Given the description of an element on the screen output the (x, y) to click on. 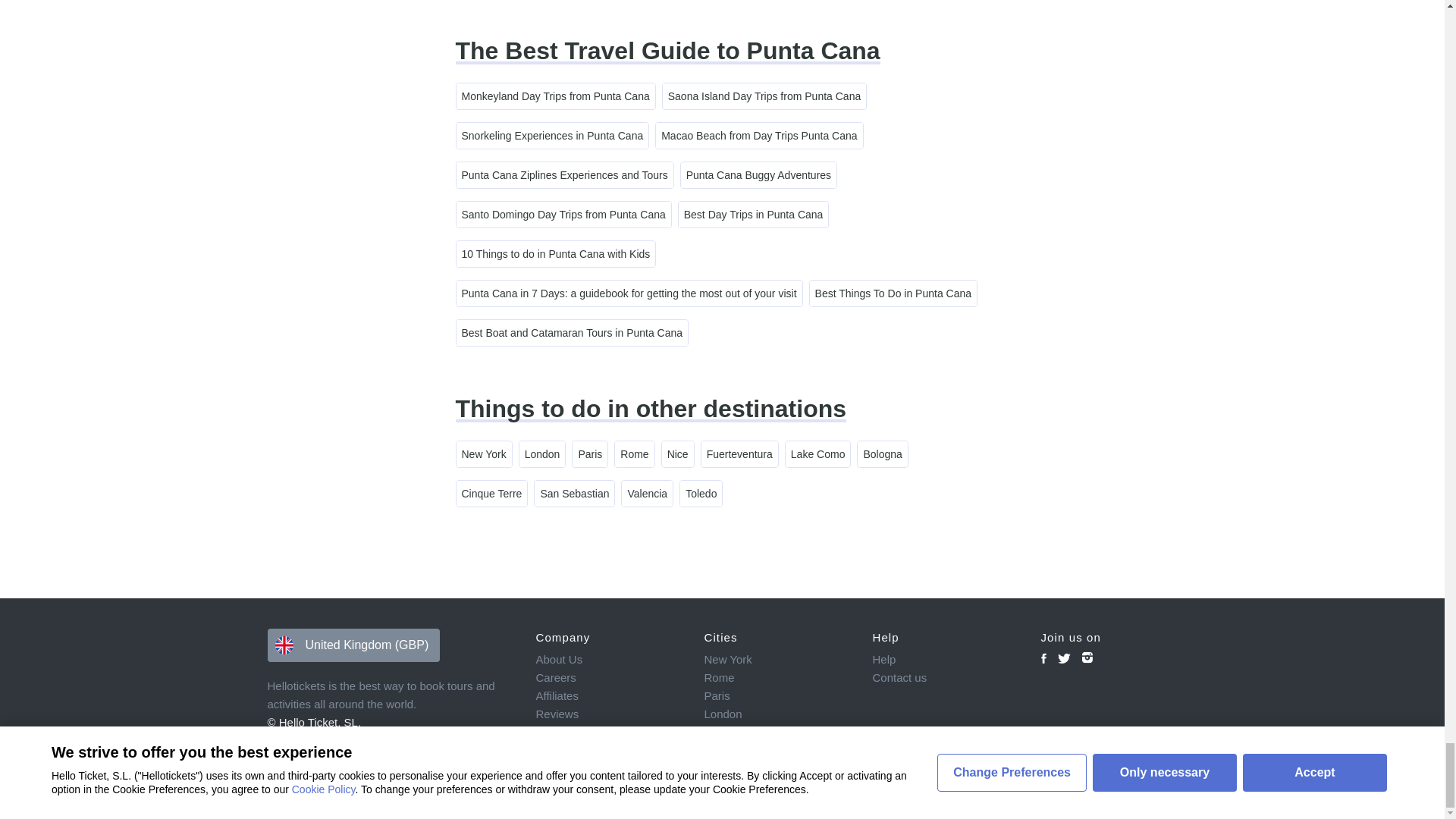
Santo Domingo Day Trips from Punta Cana (564, 214)
10 Things to do in Punta Cana with Kids (556, 253)
New York (484, 453)
The Best Travel Guide to Punta Cana (666, 50)
Punta Cana Buggy Adventures (758, 175)
Punta Cana Ziplines Experiences and Tours (564, 175)
Saona Island Day Trips from Punta Cana (764, 95)
Snorkeling Experiences in Punta Cana (553, 135)
Best Day Trips in Punta Cana (753, 214)
Things to do in other destinations (649, 408)
Best Boat and Catamaran Tours in Punta Cana (572, 332)
Best Things To Do in Punta Cana (892, 293)
Monkeyland Day Trips from Punta Cana (556, 95)
Macao Beach from Day Trips Punta Cana (758, 135)
